Given the description of an element on the screen output the (x, y) to click on. 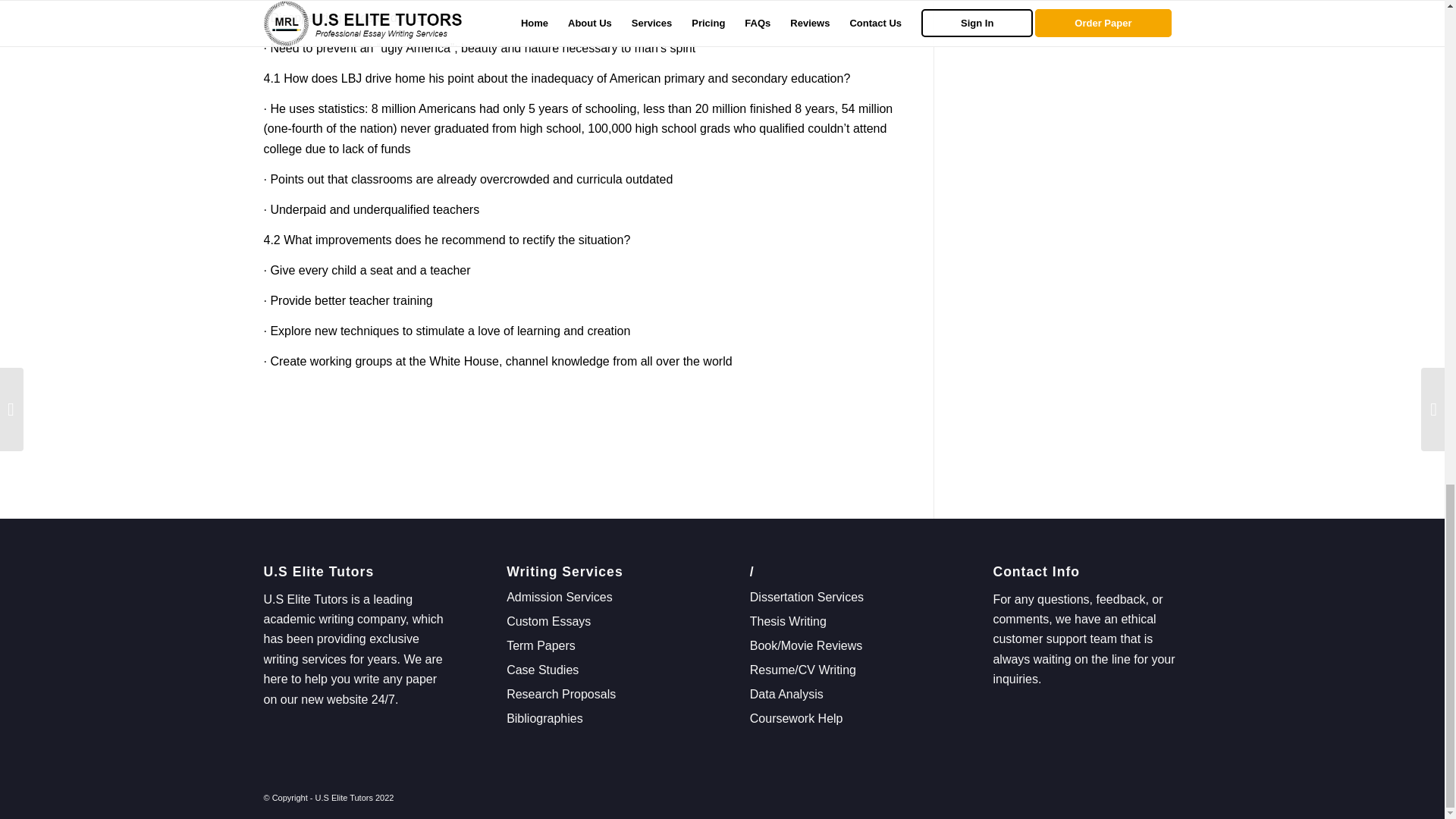
Admission Services (559, 596)
Bibliographies (544, 717)
Research Proposals (560, 694)
Dissertation Services (806, 596)
Thesis Writing (788, 621)
Term Papers (540, 645)
Custom Essays (548, 621)
Coursework Help (796, 717)
Case Studies (542, 669)
Data Analysis (786, 694)
